Given the description of an element on the screen output the (x, y) to click on. 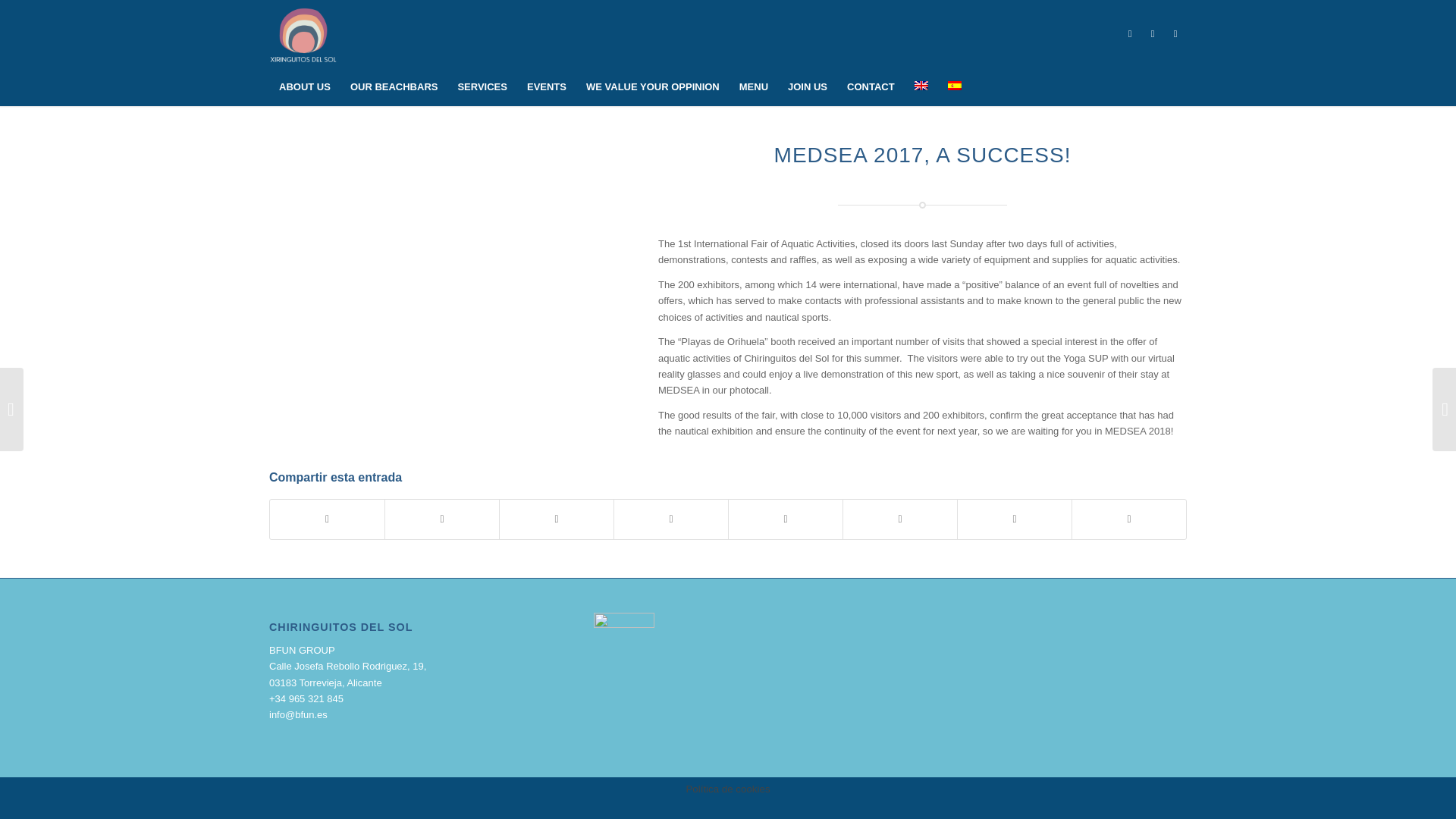
OUR BEACHBARS (394, 86)
EVENTS (546, 86)
CONTACT (870, 86)
Twitter (1152, 33)
English (921, 85)
Logo Xiringuitos Blanco (303, 33)
MENU (753, 86)
JOIN US (807, 86)
Instagram (1174, 33)
SERVICES (481, 86)
